Given the description of an element on the screen output the (x, y) to click on. 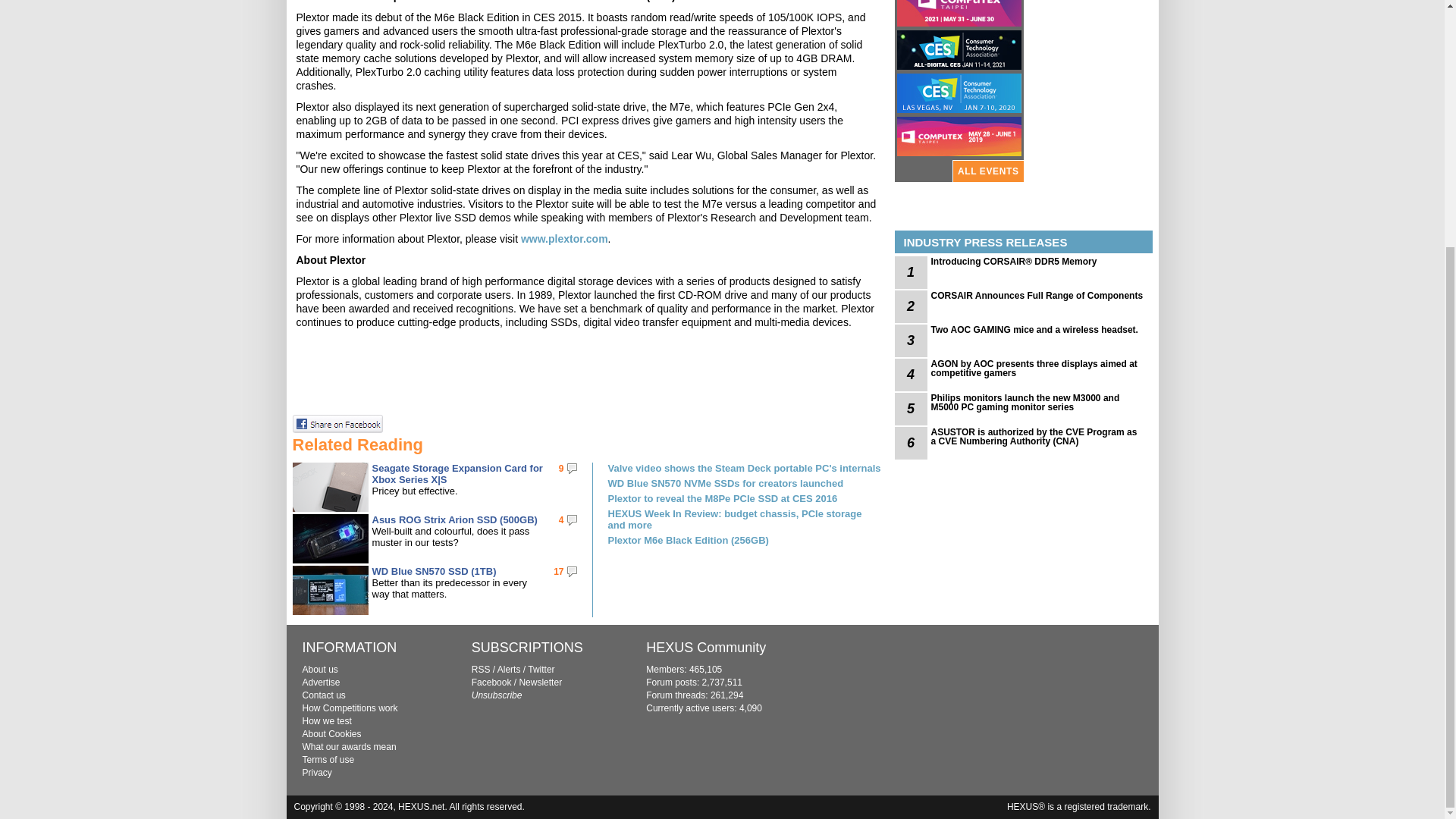
HEXUS Week In Review: budget chassis, PCIe storage and more (744, 518)
9 (561, 468)
WD Blue SN570 NVMe SSDs for creators launched (744, 482)
Valve video shows the Steam Deck portable PC's internals (744, 468)
Plextor to reveal the M8Pe PCIe SSD at CES 2016 (744, 498)
17 (558, 571)
www.plextor.com (564, 238)
4 (561, 520)
